Given the description of an element on the screen output the (x, y) to click on. 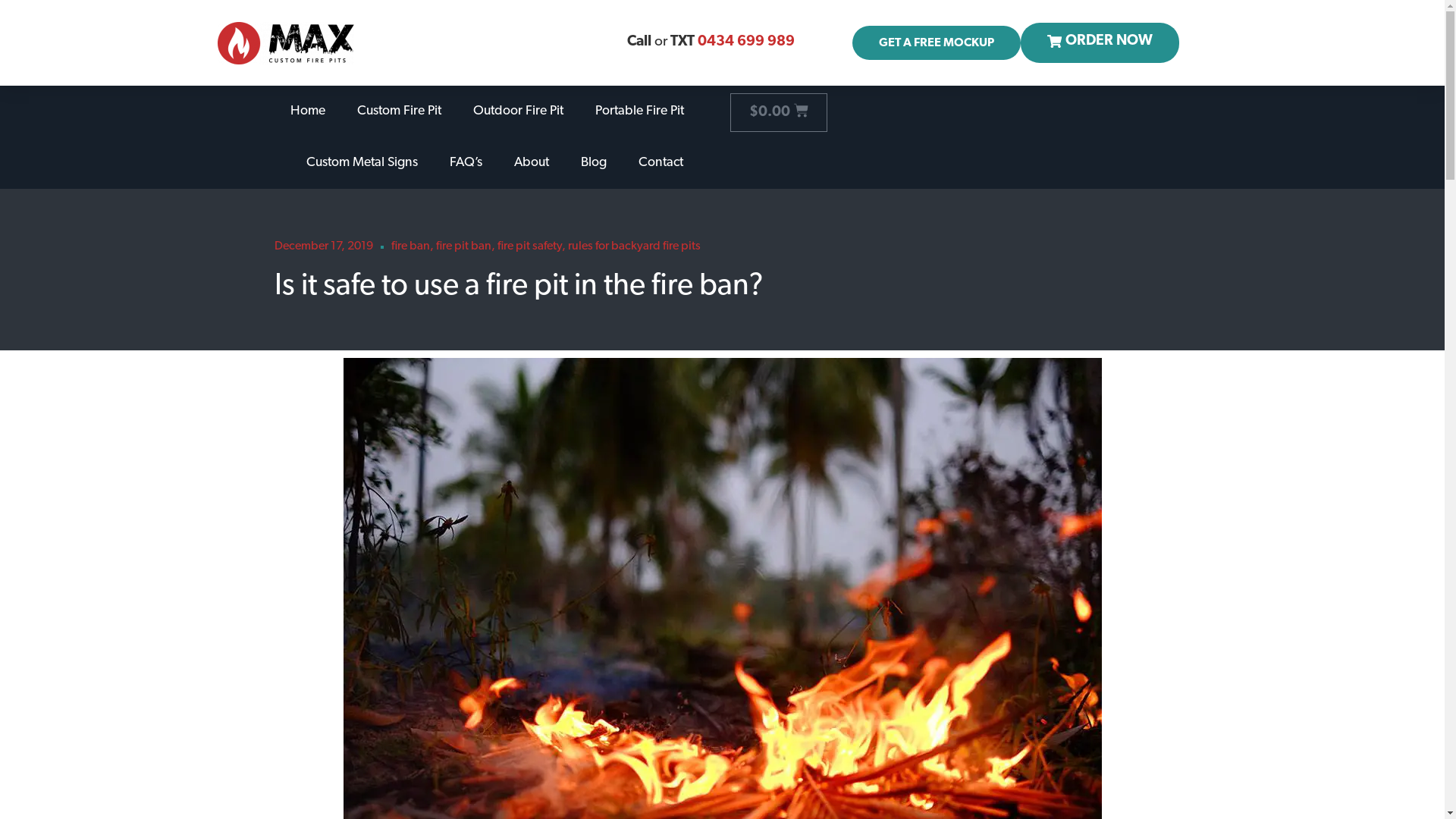
max-firepits-logo@2x Element type: hover (285, 42)
GET A FREE MOCKUP Element type: text (936, 42)
Outdoor Fire Pit Element type: text (518, 111)
ORDER NOW Element type: text (1099, 42)
$0.00 Element type: text (778, 112)
Home Element type: text (306, 111)
Blog Element type: text (593, 162)
fire pit ban Element type: text (463, 246)
0434 699 989 Element type: text (745, 41)
fire ban Element type: text (410, 246)
Contact Element type: text (660, 162)
Portable Fire Pit Element type: text (638, 111)
rules for backyard fire pits Element type: text (633, 246)
December 17, 2019 Element type: text (323, 247)
fire pit safety Element type: text (529, 246)
is-it-safe-to-use-a-fire-pit-in-the-fire-ban Element type: hover (721, 610)
About Element type: text (531, 162)
Custom Metal Signs Element type: text (361, 162)
Custom Fire Pit Element type: text (398, 111)
